Given the description of an element on the screen output the (x, y) to click on. 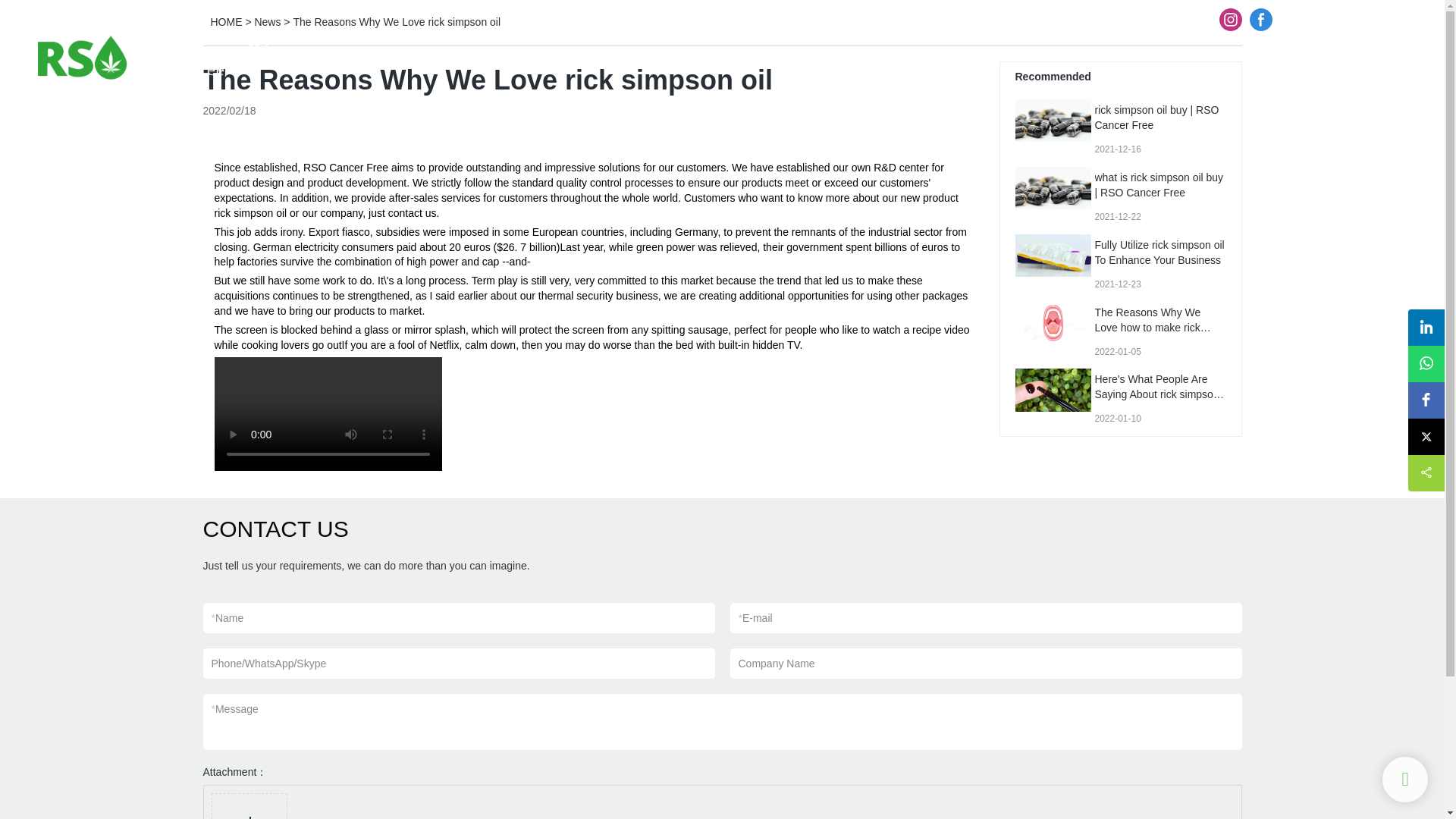
facebook (1261, 19)
News (267, 21)
HOME (944, 56)
ABOUT (1013, 56)
PROCESS (1268, 56)
HOME (227, 21)
BUY RICK SIMPSON OIL (1136, 56)
The Reasons Why We Love rick simpson oil (396, 21)
instagram (1230, 19)
Fully Utilize rick simpson oil To Enhance Your Business (1159, 252)
CASES (1359, 56)
Here's What People Are Saying About rick simpson oil buy (1159, 394)
The Reasons Why We Love how to make rick simpson oil (1152, 327)
